Given the description of an element on the screen output the (x, y) to click on. 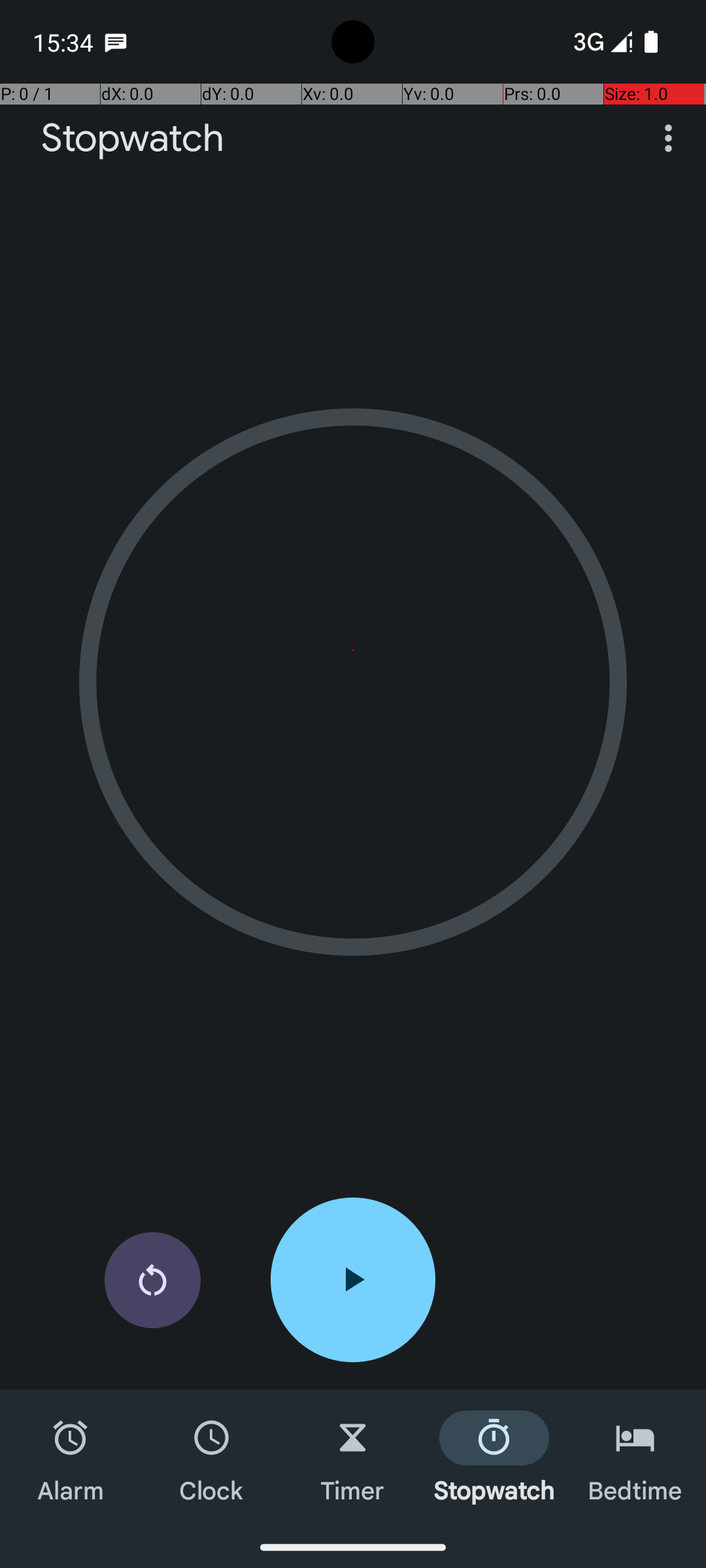
Start Element type: android.widget.Button (352, 1279)
05 Element type: android.widget.TextView (352, 650)
